Given the description of an element on the screen output the (x, y) to click on. 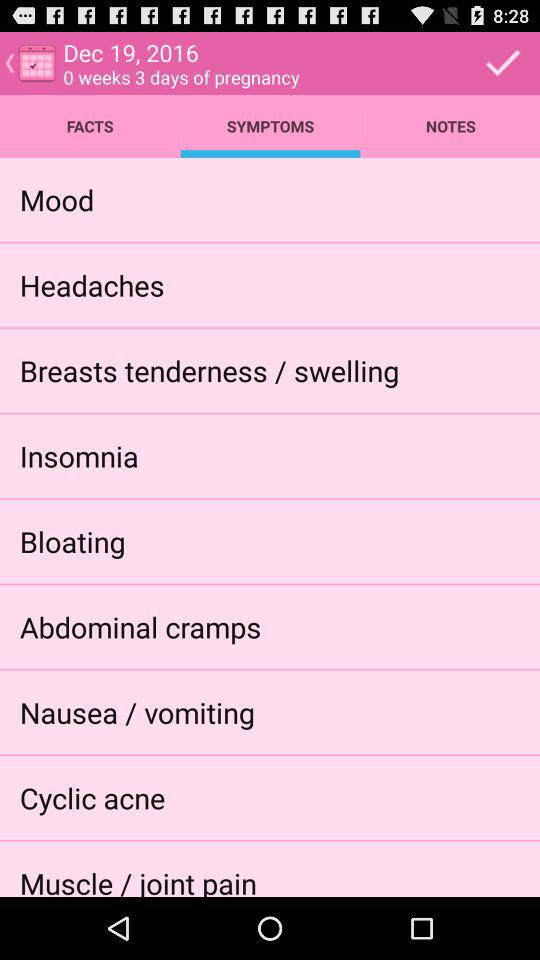
click the item above nausea / vomiting icon (140, 626)
